Given the description of an element on the screen output the (x, y) to click on. 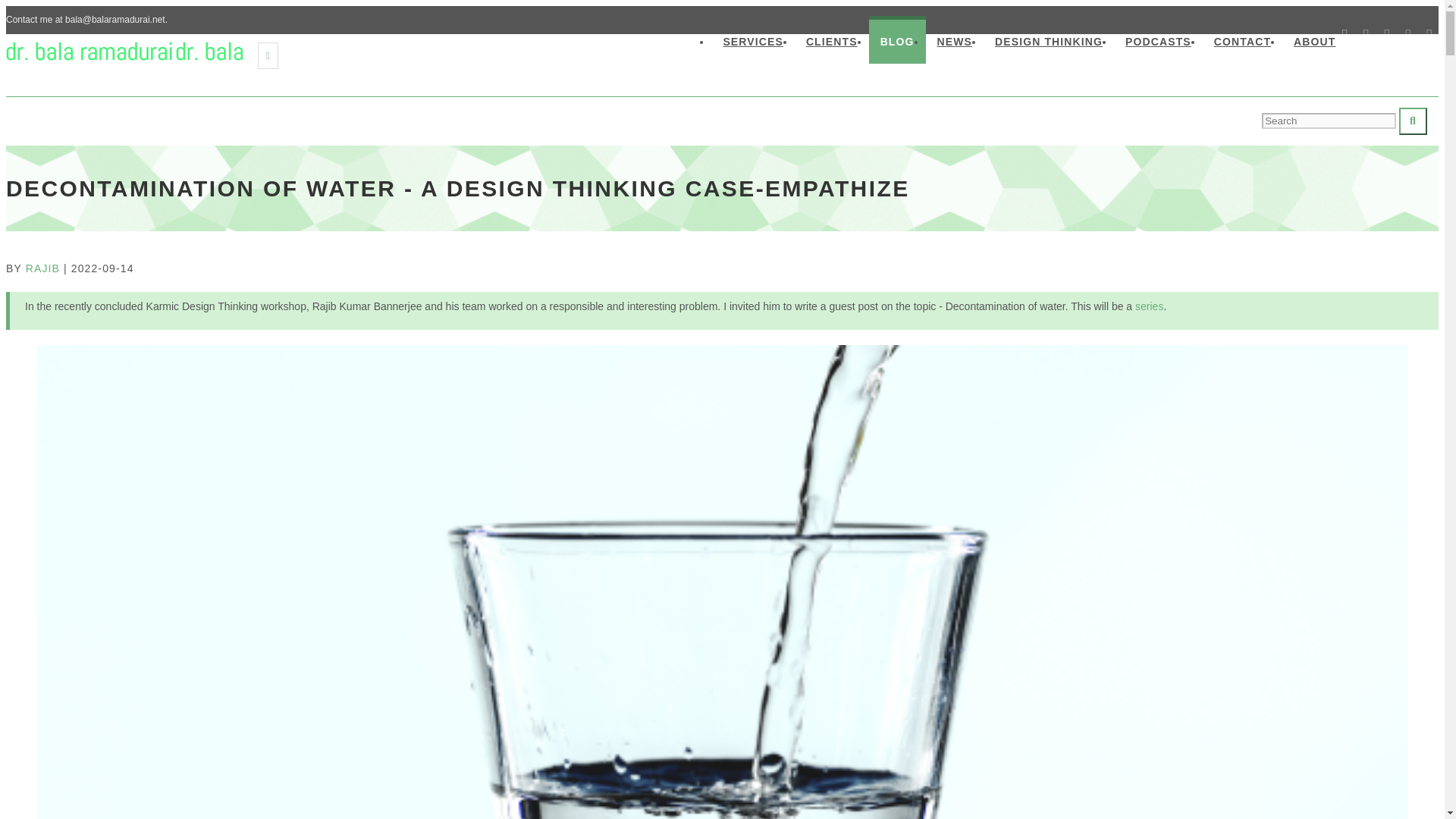
RAJIB (42, 268)
CLIENTS (831, 39)
SERVICES (752, 39)
CONTACT (1242, 39)
BLOG (897, 39)
DESIGN THINKING (1048, 39)
ABOUT (1314, 39)
NEWS (955, 39)
PODCASTS (1157, 39)
series (1149, 306)
